Given the description of an element on the screen output the (x, y) to click on. 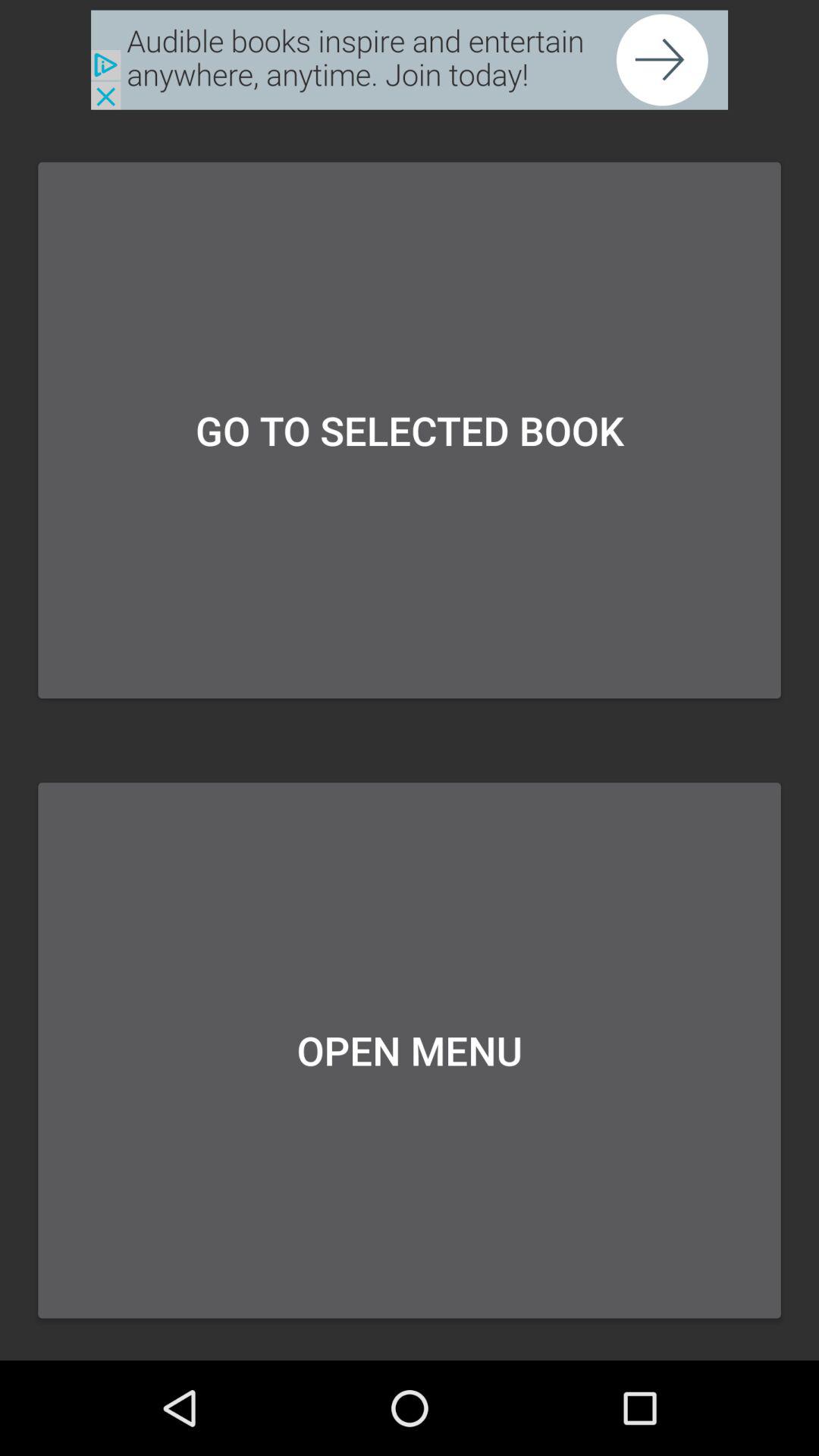
click on advertisement above (409, 59)
